Given the description of an element on the screen output the (x, y) to click on. 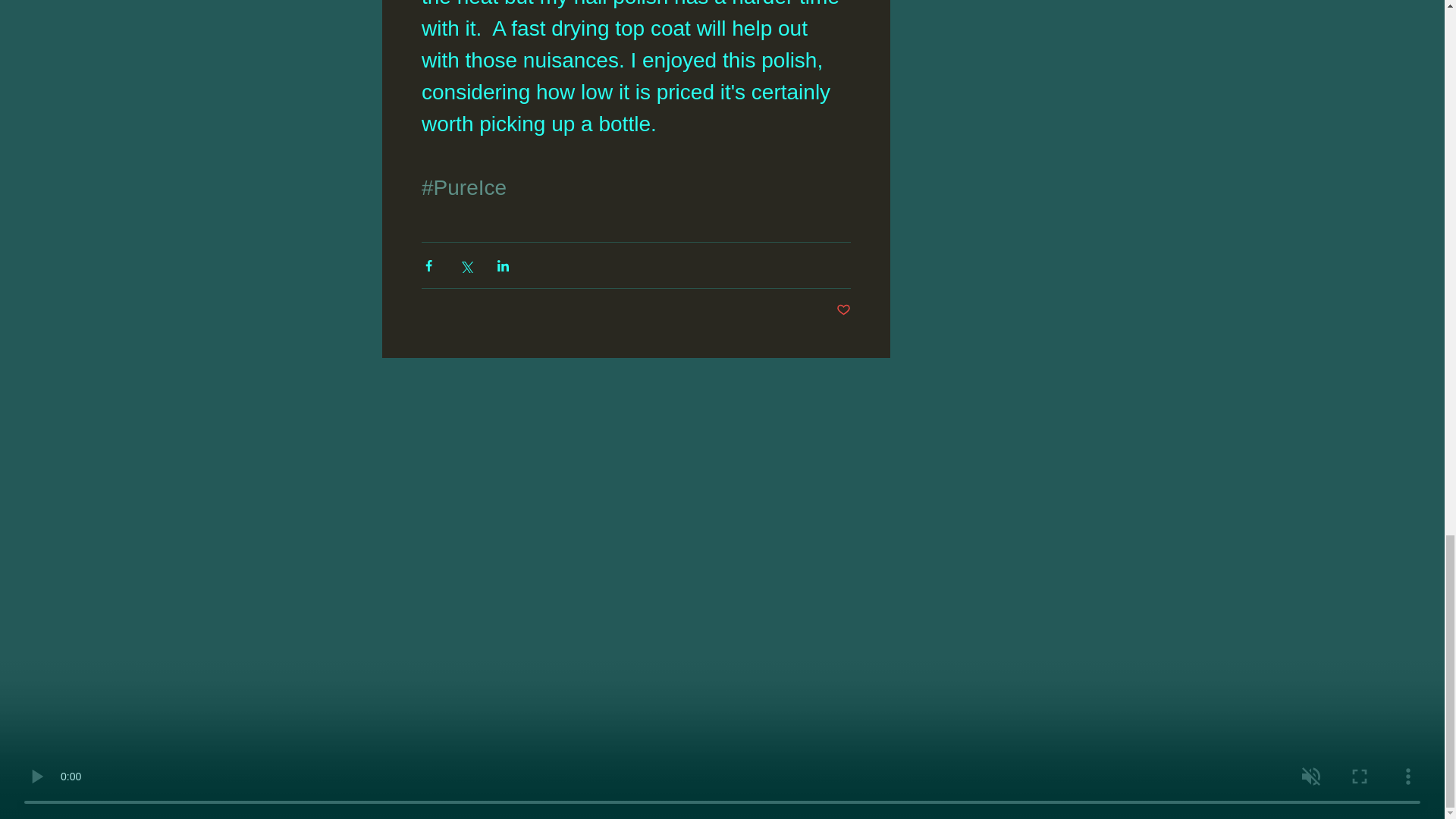
Post not marked as liked (842, 310)
